Given the description of an element on the screen output the (x, y) to click on. 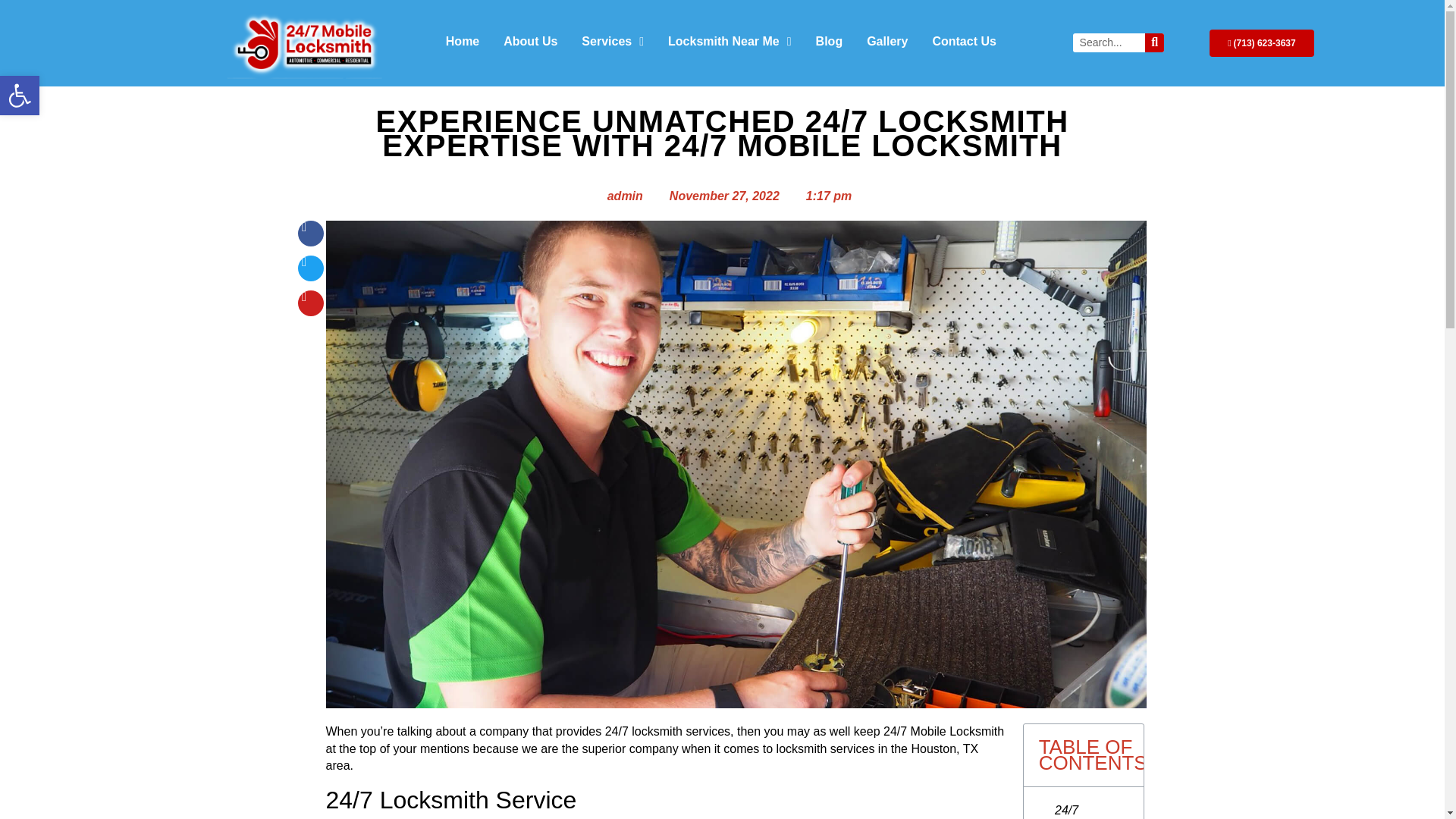
About Us (530, 41)
Accessibility Tools (19, 95)
Accessibility Tools (19, 95)
Home (462, 41)
Services (19, 95)
Locksmith Near Me (612, 41)
